Given the description of an element on the screen output the (x, y) to click on. 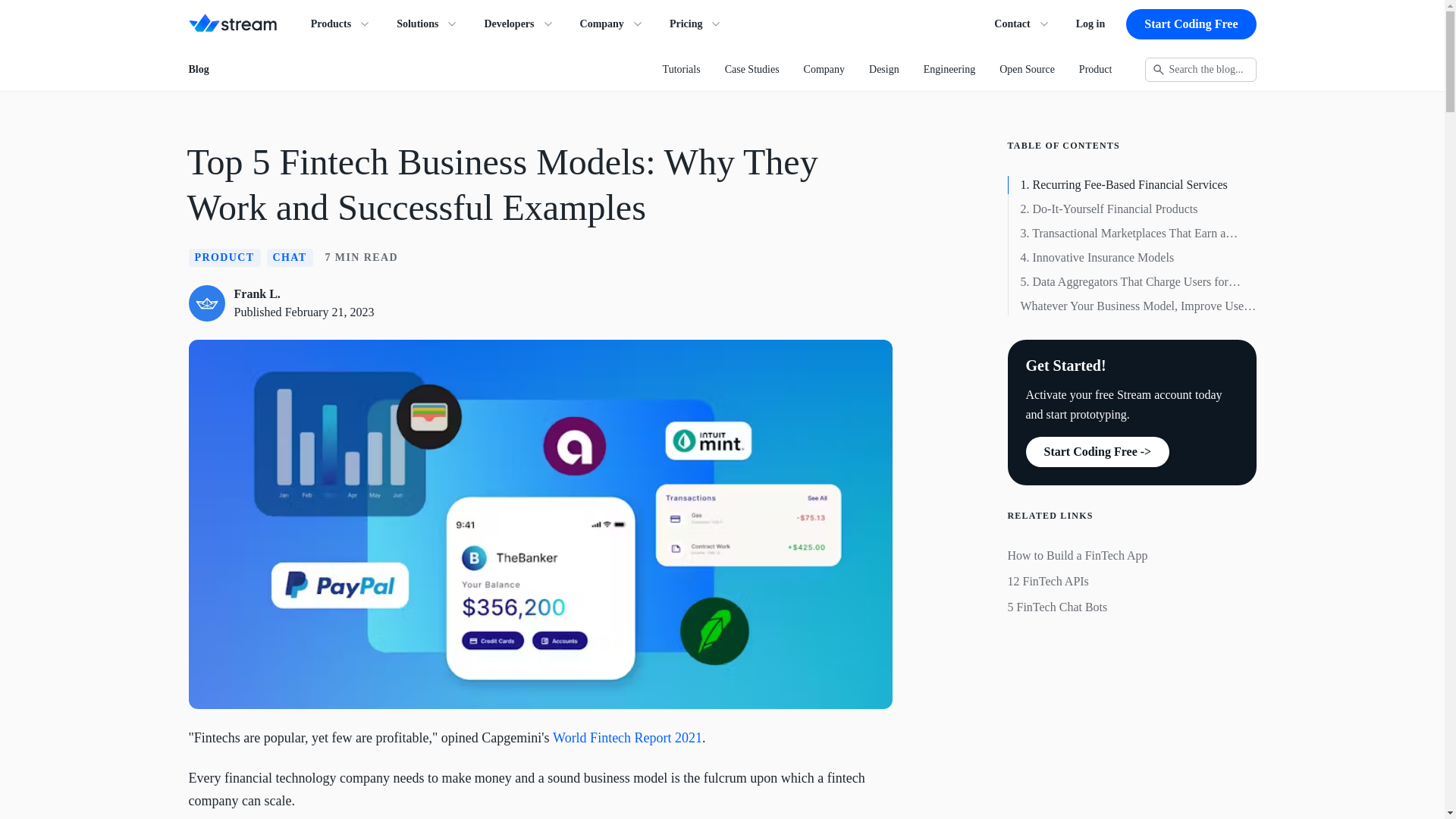
Log in (1091, 24)
